Given the description of an element on the screen output the (x, y) to click on. 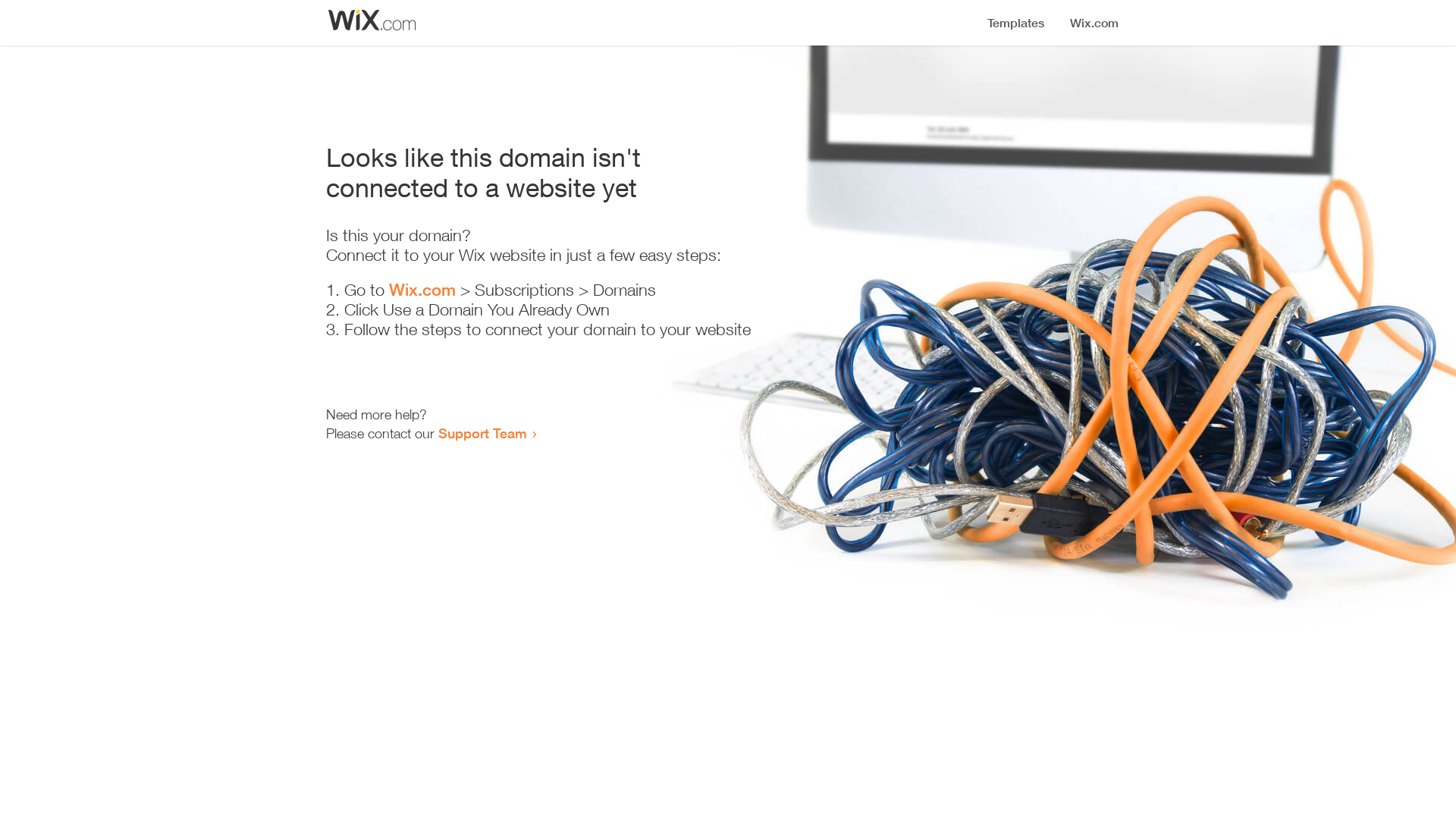
Support Team Element type: text (482, 432)
Wix.com Element type: text (422, 289)
